Given the description of an element on the screen output the (x, y) to click on. 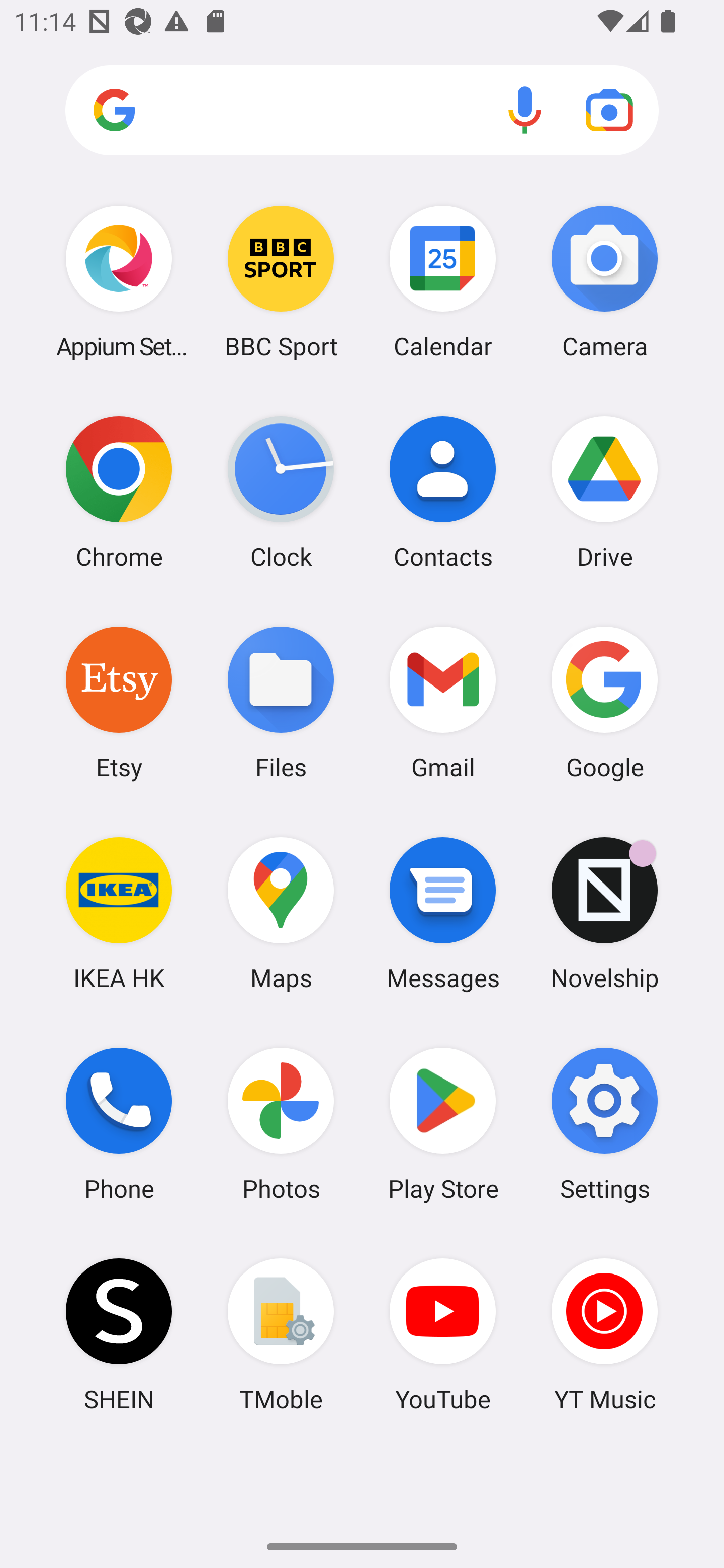
Search apps, web and more (361, 110)
Voice search (524, 109)
Google Lens (608, 109)
Appium Settings (118, 281)
BBC Sport (280, 281)
Calendar (443, 281)
Camera (604, 281)
Chrome (118, 492)
Clock (280, 492)
Contacts (443, 492)
Drive (604, 492)
Etsy (118, 702)
Files (280, 702)
Gmail (443, 702)
Google (604, 702)
IKEA HK (118, 913)
Maps (280, 913)
Messages (443, 913)
Novelship Novelship has 3 notifications (604, 913)
Phone (118, 1124)
Photos (280, 1124)
Play Store (443, 1124)
Settings (604, 1124)
SHEIN (118, 1334)
TMoble (280, 1334)
YouTube (443, 1334)
YT Music (604, 1334)
